Given the description of an element on the screen output the (x, y) to click on. 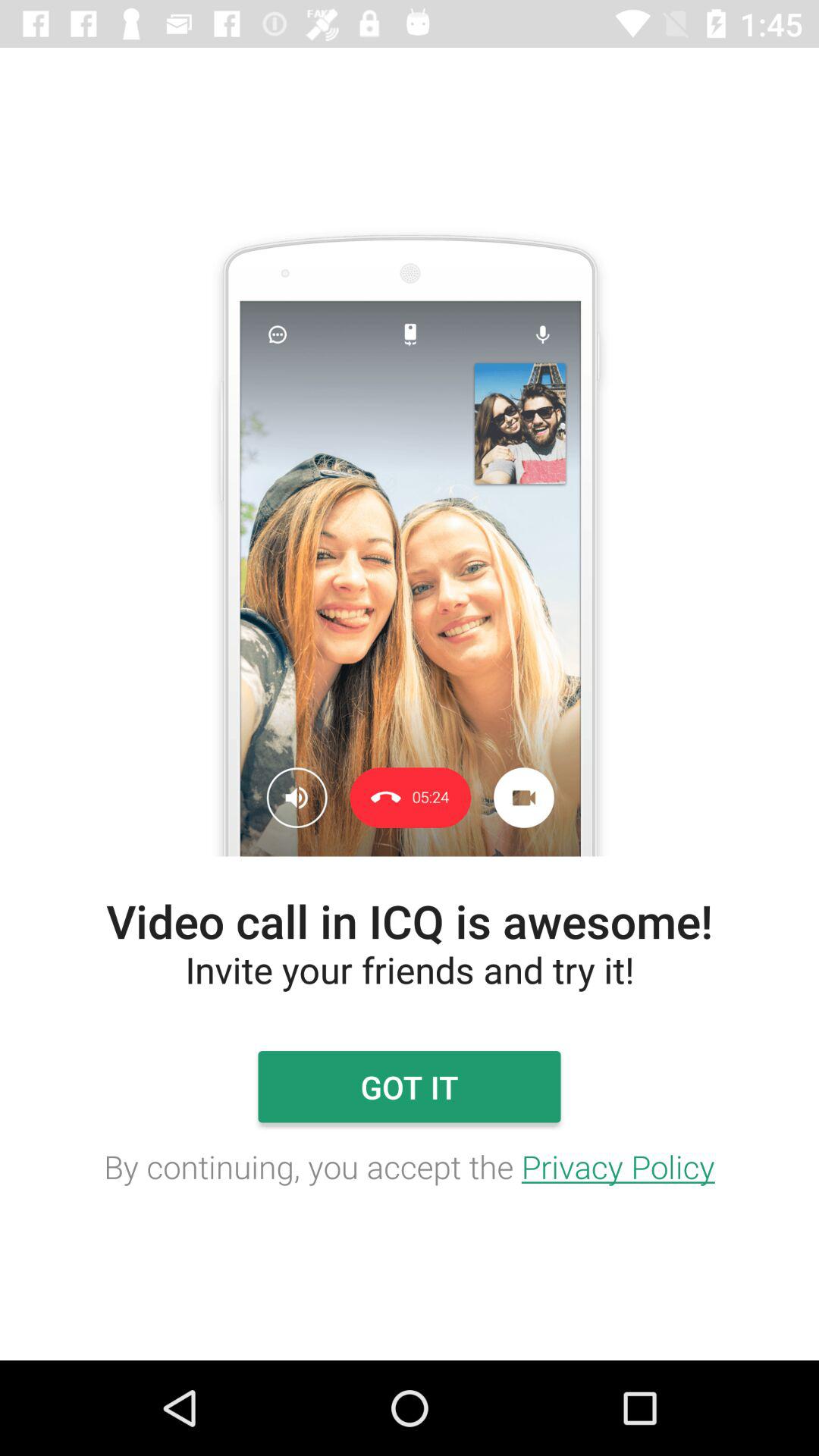
scroll to the got it item (409, 1086)
